Given the description of an element on the screen output the (x, y) to click on. 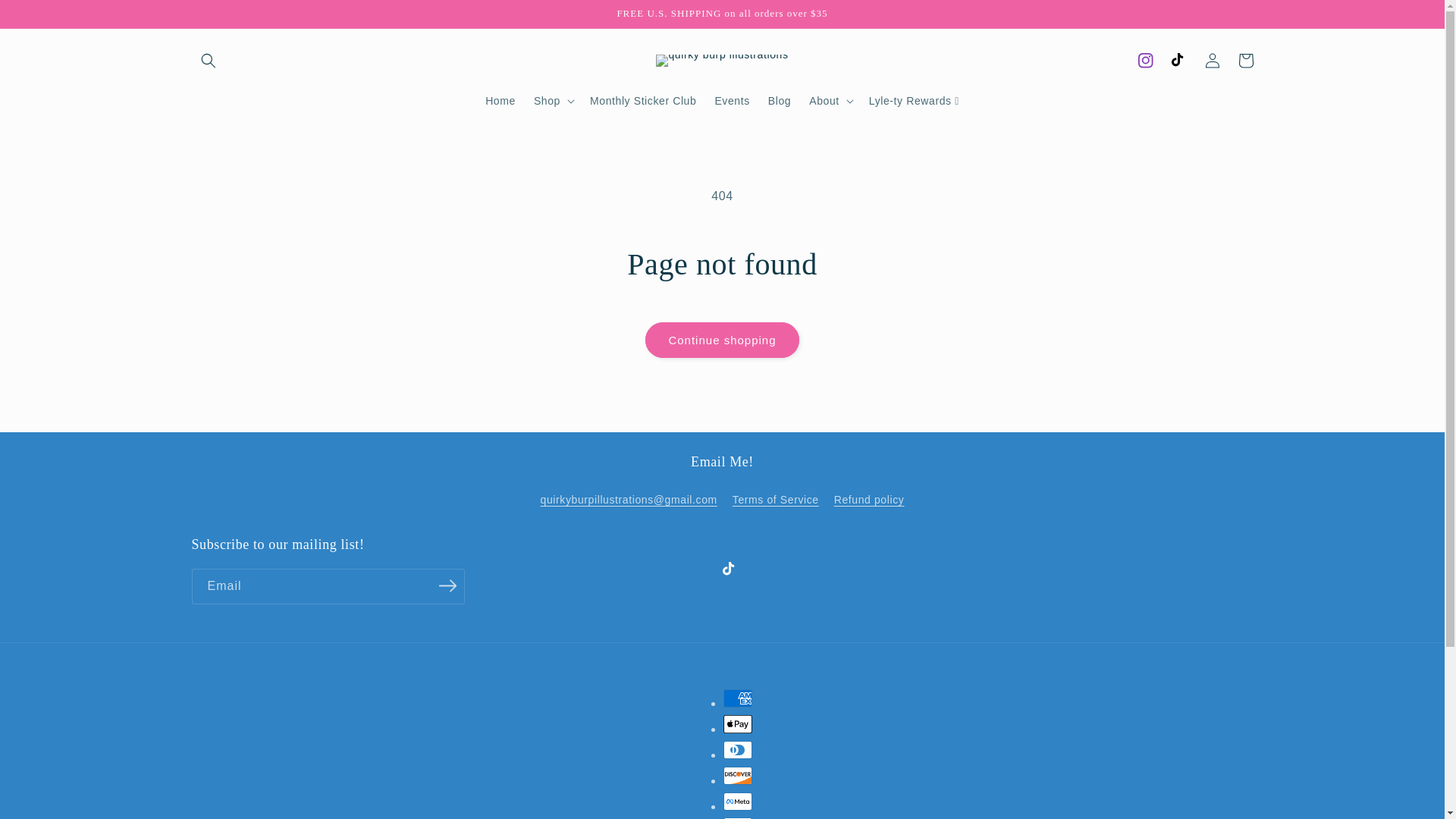
Discover (737, 775)
Diners Club (737, 750)
Google Pay (737, 818)
Skip to content (45, 17)
American Express (737, 698)
Meta Pay (737, 801)
Home (500, 101)
Apple Pay (737, 723)
